Given the description of an element on the screen output the (x, y) to click on. 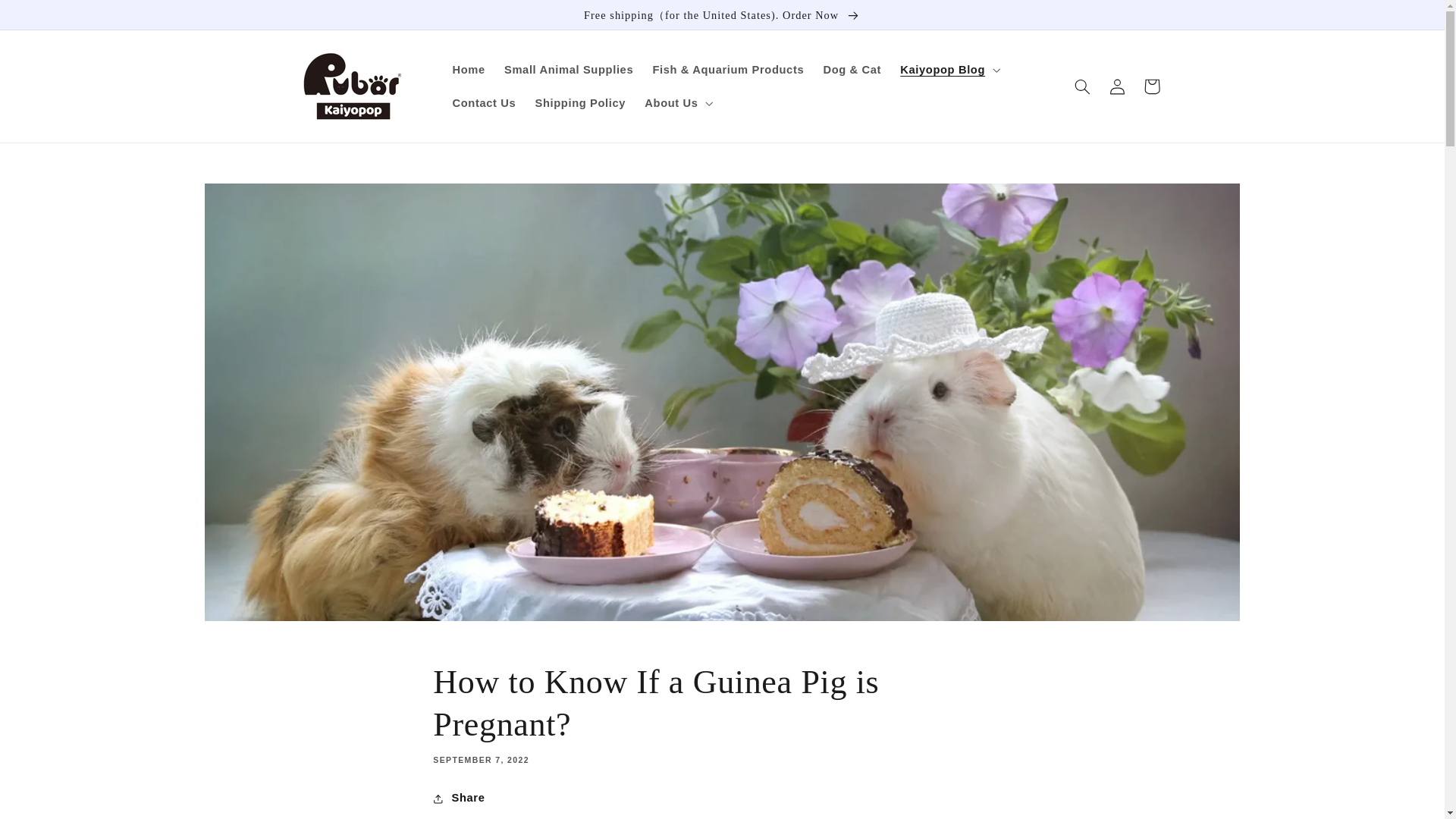
Skip to content (47, 17)
Log in (1116, 86)
Home (468, 69)
Cart (1151, 86)
Contact Us (483, 102)
Shipping Policy (579, 102)
Small Animal Supplies (568, 69)
